Given the description of an element on the screen output the (x, y) to click on. 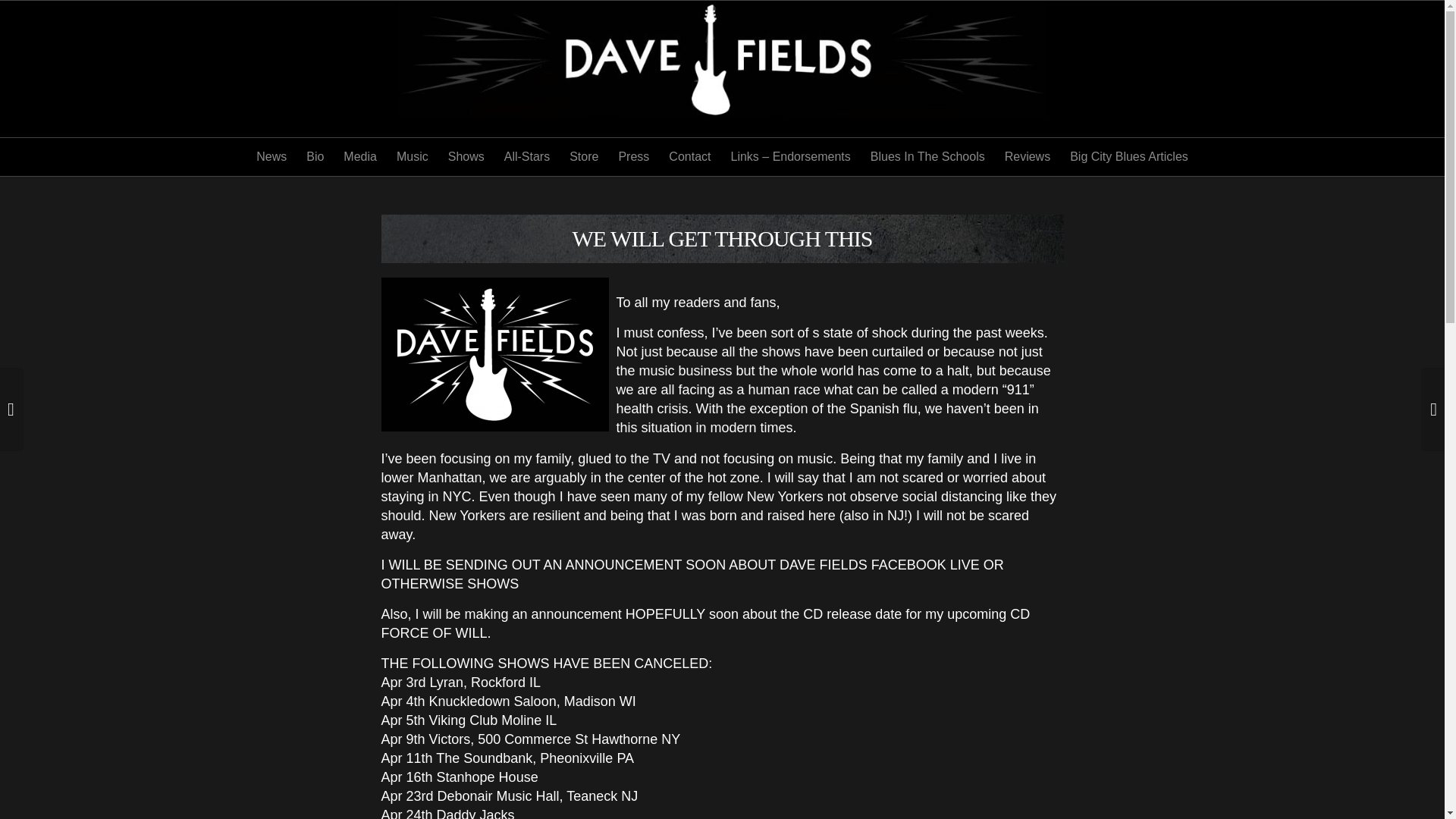
Music (412, 157)
Media (360, 157)
Bio (315, 157)
All-Stars (527, 157)
Big City Blues Articles (1128, 157)
WE WILL GET THROUGH THIS (722, 238)
Shows (466, 157)
News (271, 157)
Permanent Link: We will get through this (722, 238)
Contact (689, 157)
